Given the description of an element on the screen output the (x, y) to click on. 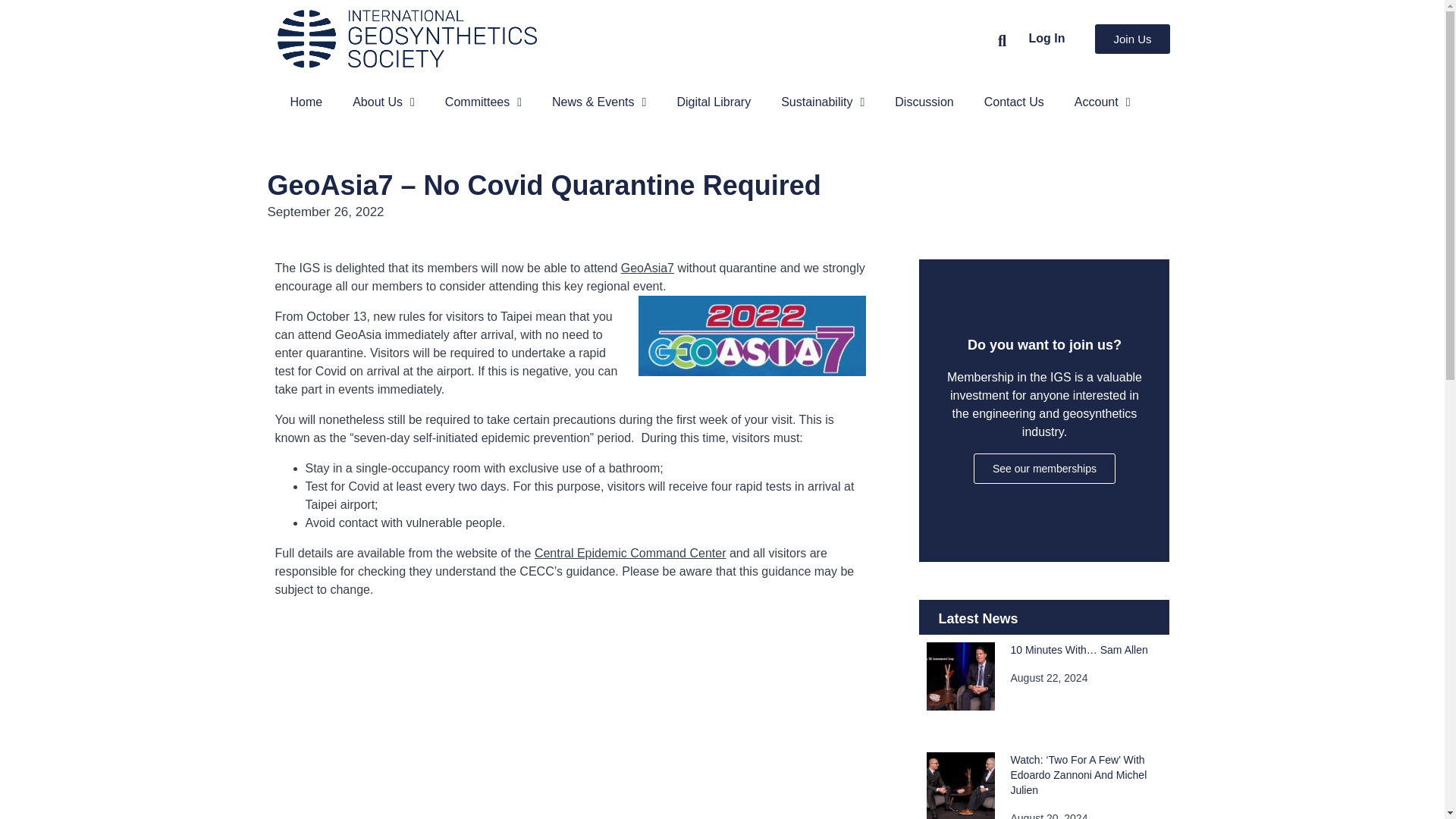
Home (306, 102)
Committees (483, 102)
Digital Library (713, 102)
About Us (383, 102)
Account (1102, 102)
Sustainability (822, 102)
Contact Us (1014, 102)
Discussion (923, 102)
Join Us (1131, 39)
Log In (1045, 38)
